Given the description of an element on the screen output the (x, y) to click on. 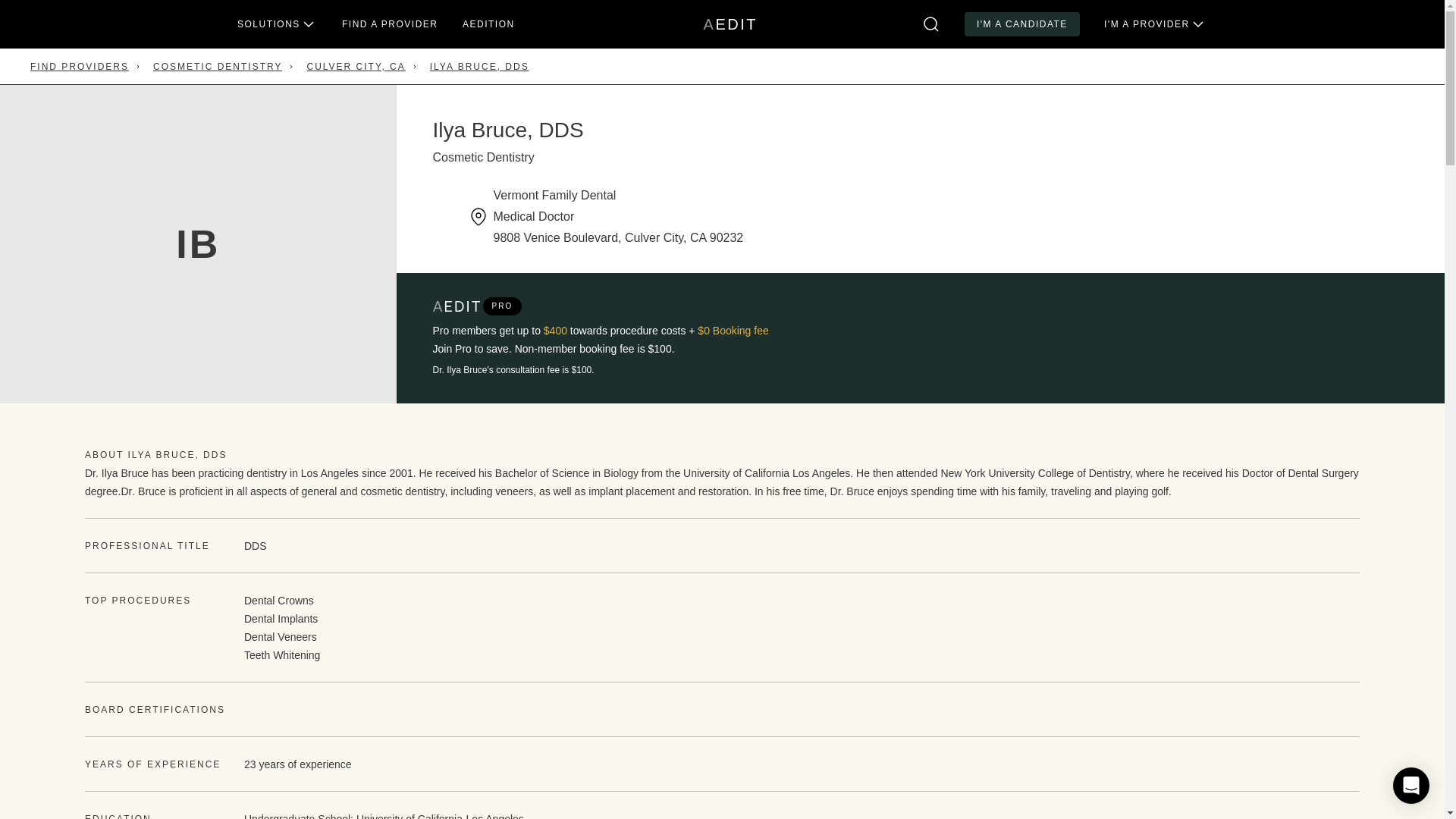
I'M A CANDIDATE (1021, 24)
FIND PROVIDERS (79, 66)
AEDITION (489, 24)
COSMETIC DENTISTRY (217, 66)
CULVER CITY, CA (730, 24)
FIND A PROVIDER (354, 66)
